Given the description of an element on the screen output the (x, y) to click on. 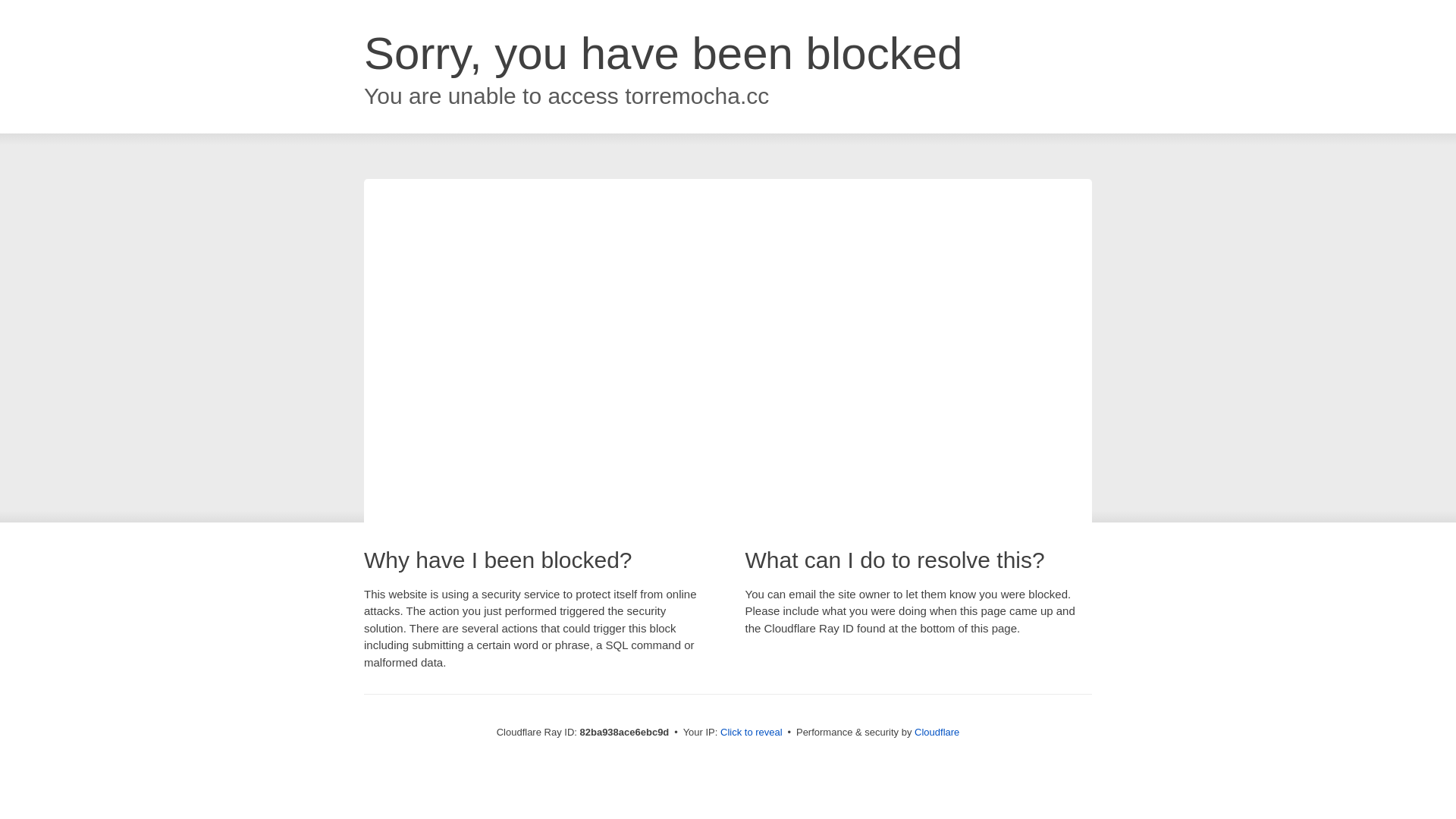
Cloudflare Element type: text (936, 731)
Click to reveal Element type: text (751, 732)
